Given the description of an element on the screen output the (x, y) to click on. 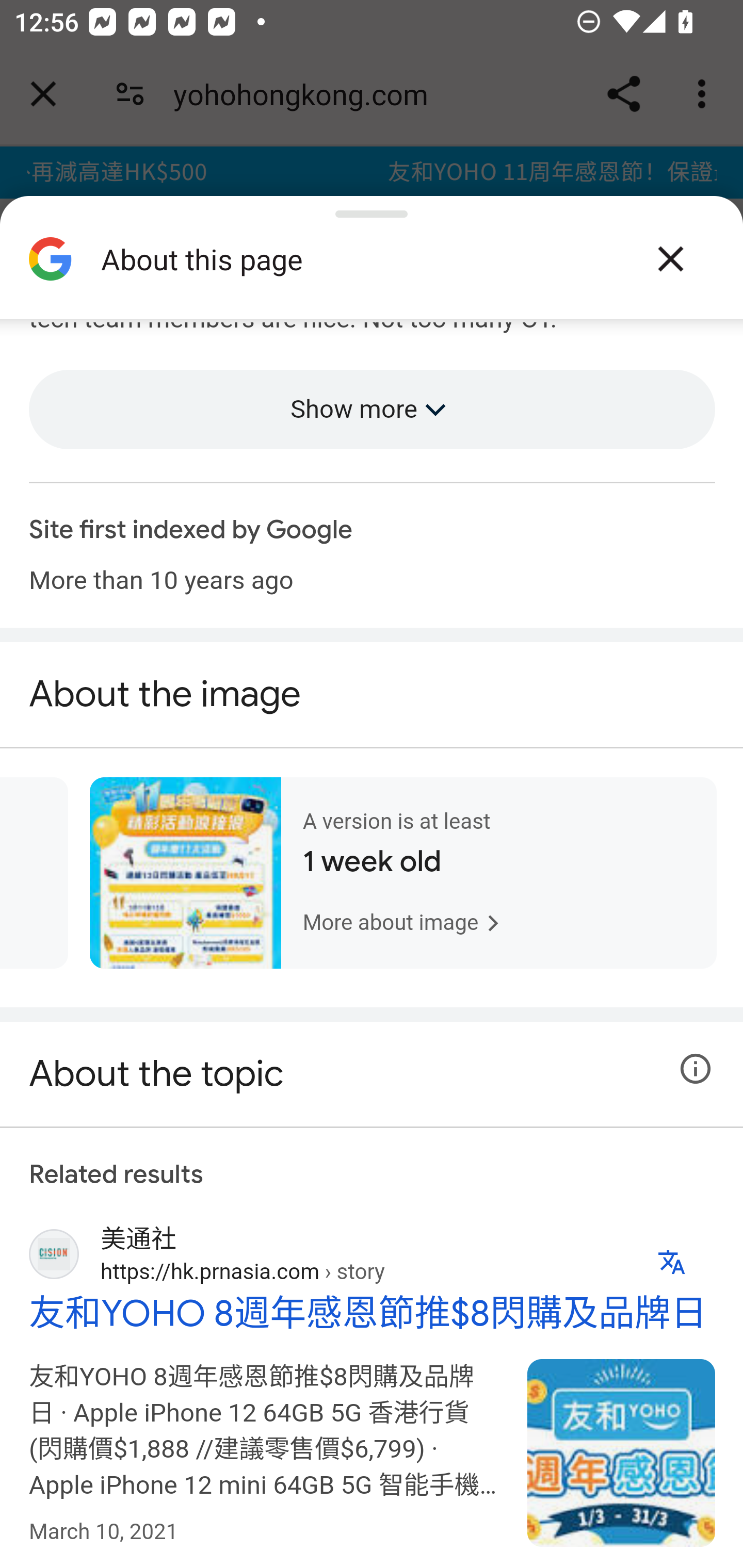
About this page Close (371, 266)
Close (670, 259)
Show more (372, 410)
Support about the topic (695, 1070)
友和YOHO 8週年感恩節推$8閃購及品牌日 (621, 1453)
